Given the description of an element on the screen output the (x, y) to click on. 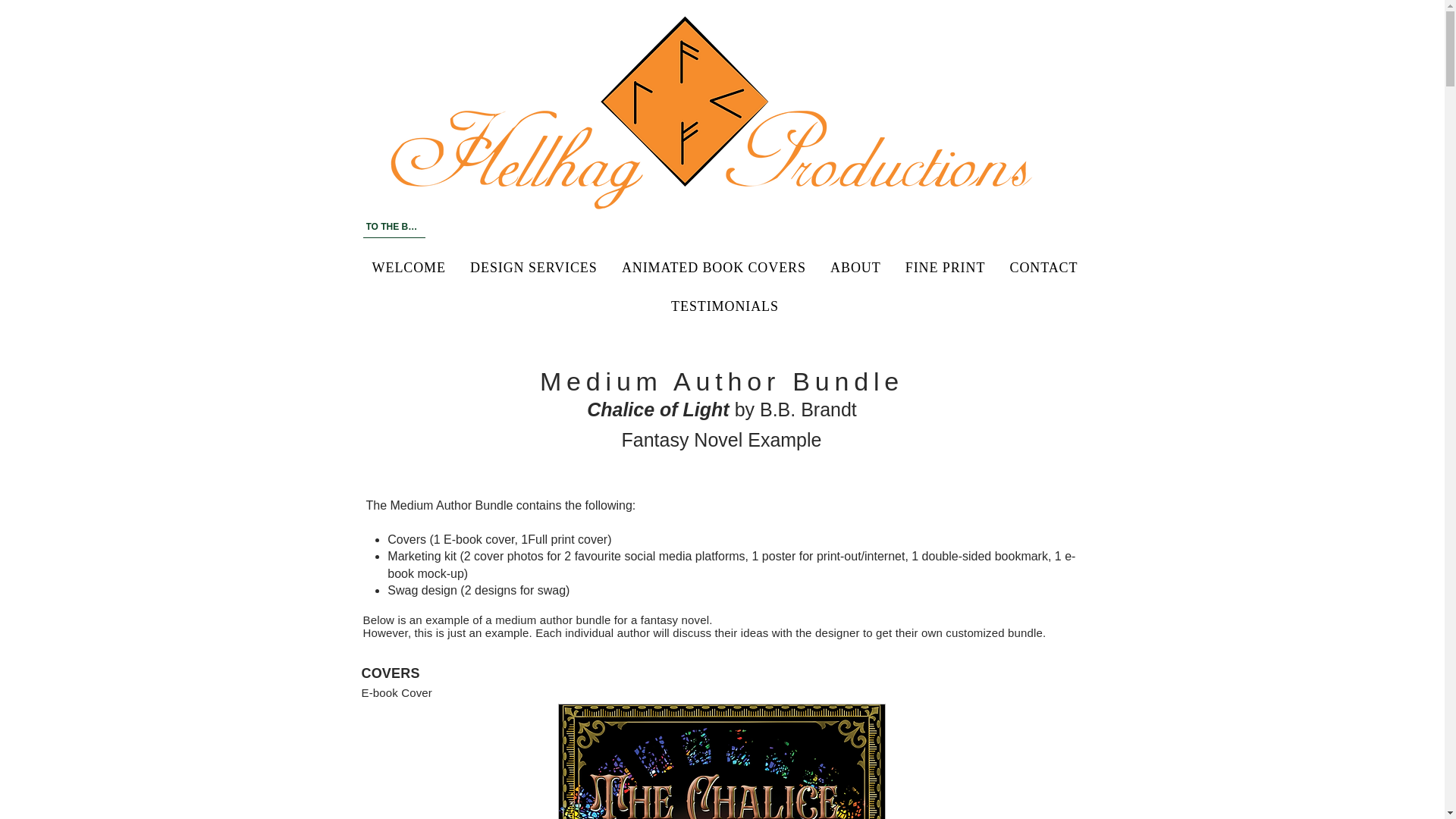
WELCOME (408, 267)
CONTACT (1043, 267)
FINE PRINT (945, 267)
ANIMATED BOOK COVERS (713, 267)
ABOUT (855, 267)
Medium Author Bundle (722, 380)
TO THE BOTTOM (393, 226)
TESTIMONIALS (724, 306)
DESIGN SERVICES (534, 267)
